Given the description of an element on the screen output the (x, y) to click on. 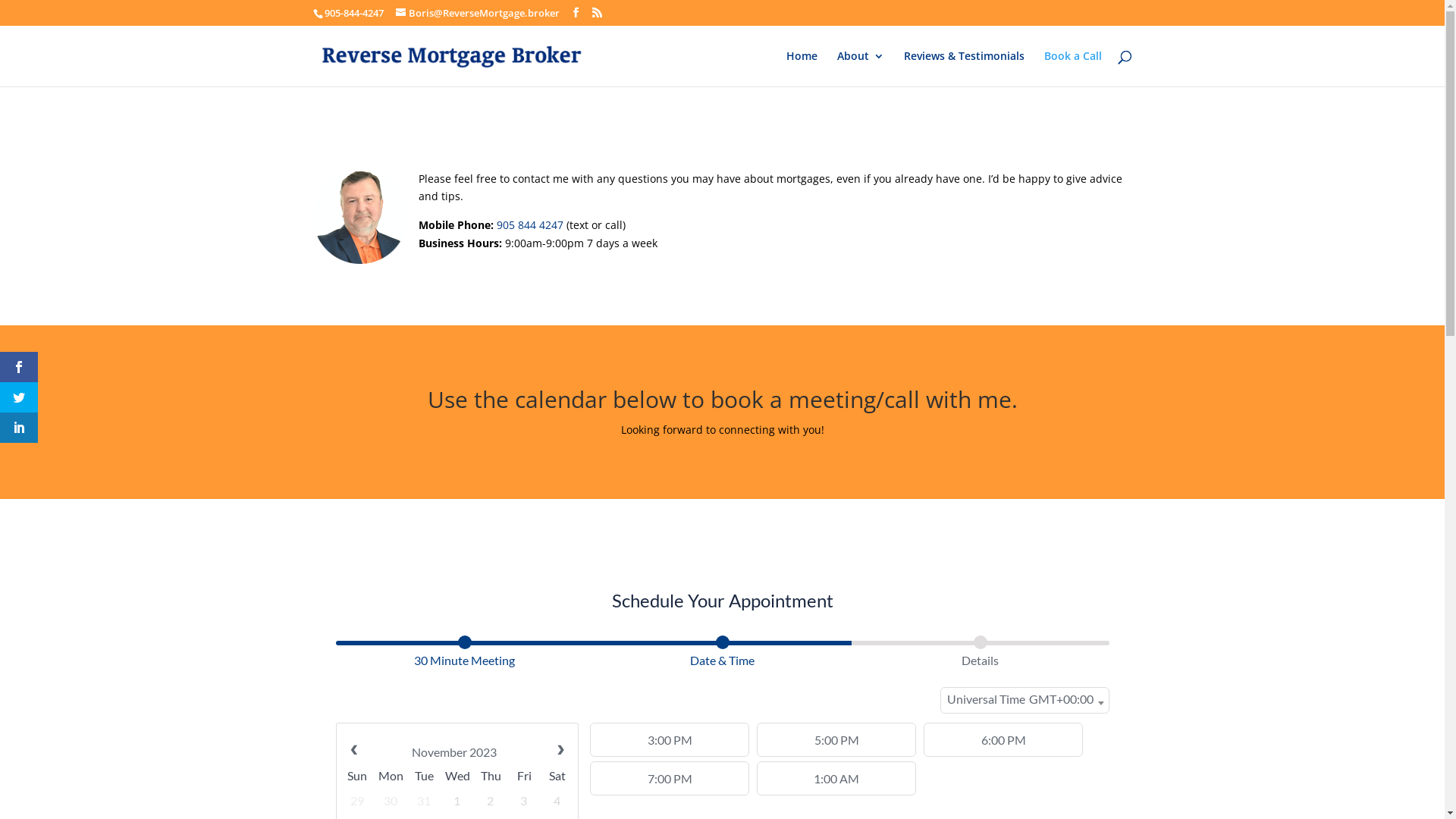
Home Element type: text (800, 67)
About Element type: text (860, 67)
905 844 4247 Element type: text (528, 224)
Book a Call Element type: text (1072, 67)
Reviews & Testimonials Element type: text (963, 67)
Boris@ReverseMortgage.broker Element type: text (477, 12)
